Given the description of an element on the screen output the (x, y) to click on. 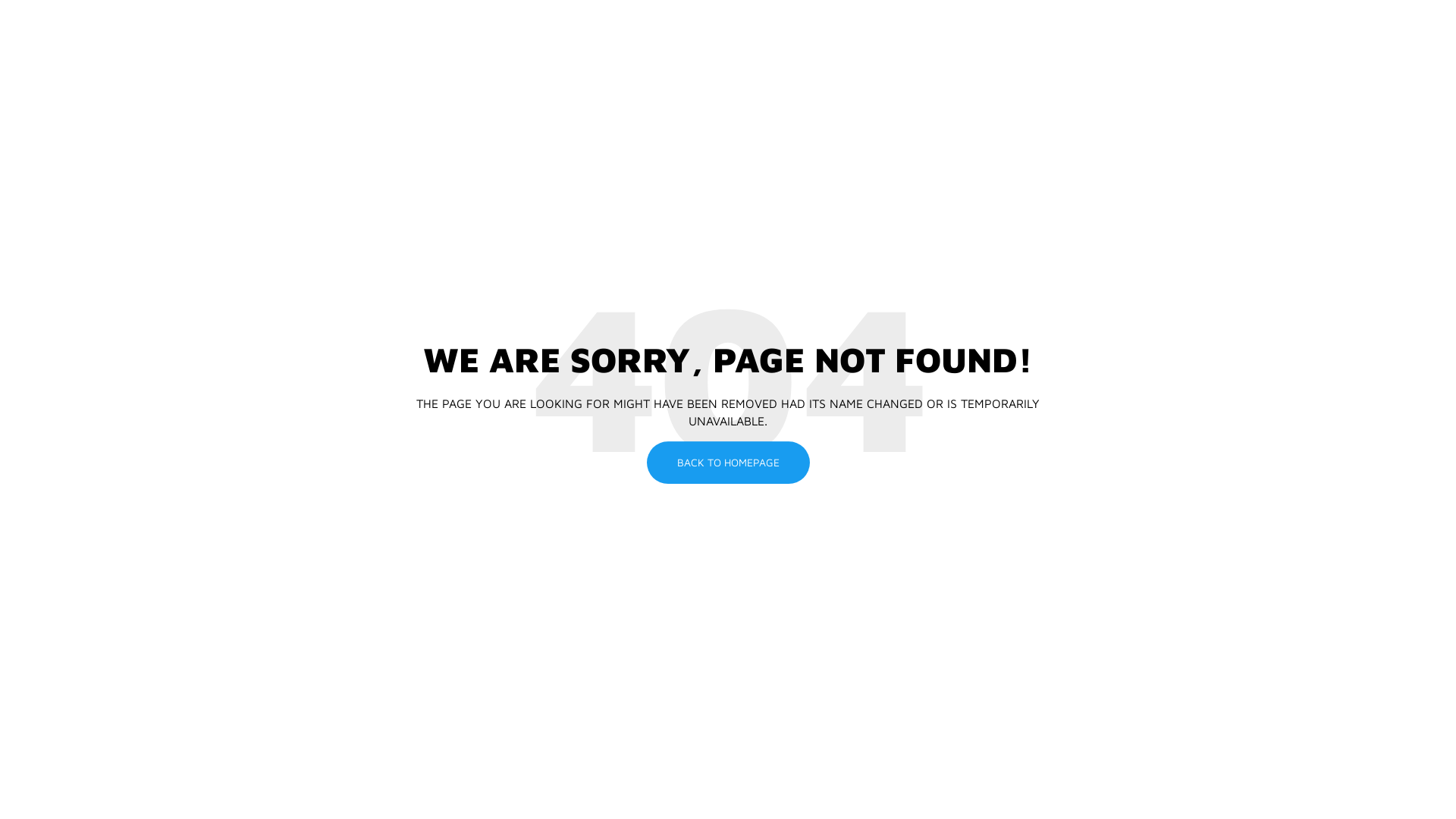
BACK TO HOMEPAGE Element type: text (727, 462)
